Given the description of an element on the screen output the (x, y) to click on. 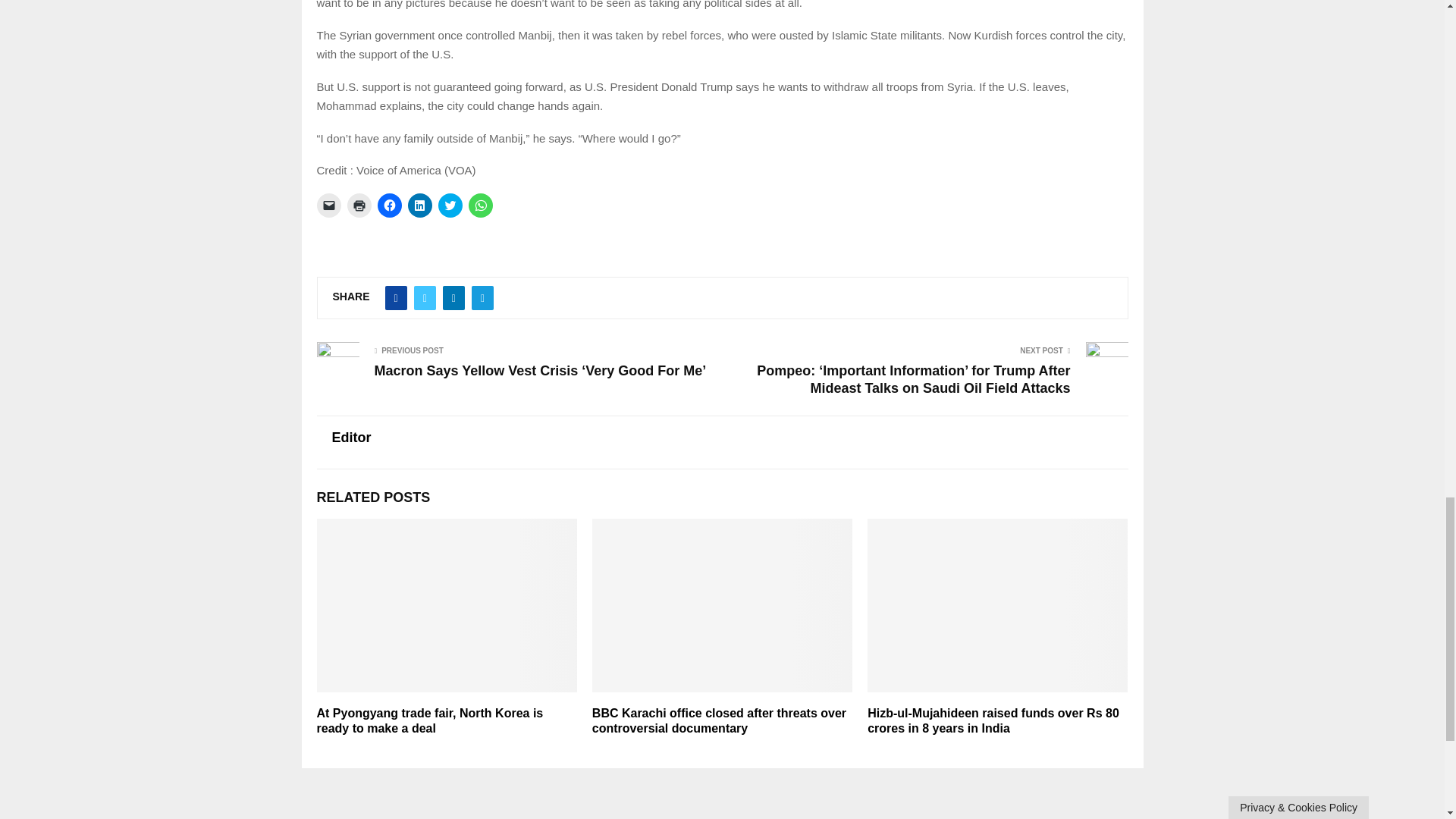
Click to print (359, 204)
Click to share on LinkedIn (419, 204)
Click to share on Facebook (389, 204)
Click to email a link to a friend (328, 204)
